Given the description of an element on the screen output the (x, y) to click on. 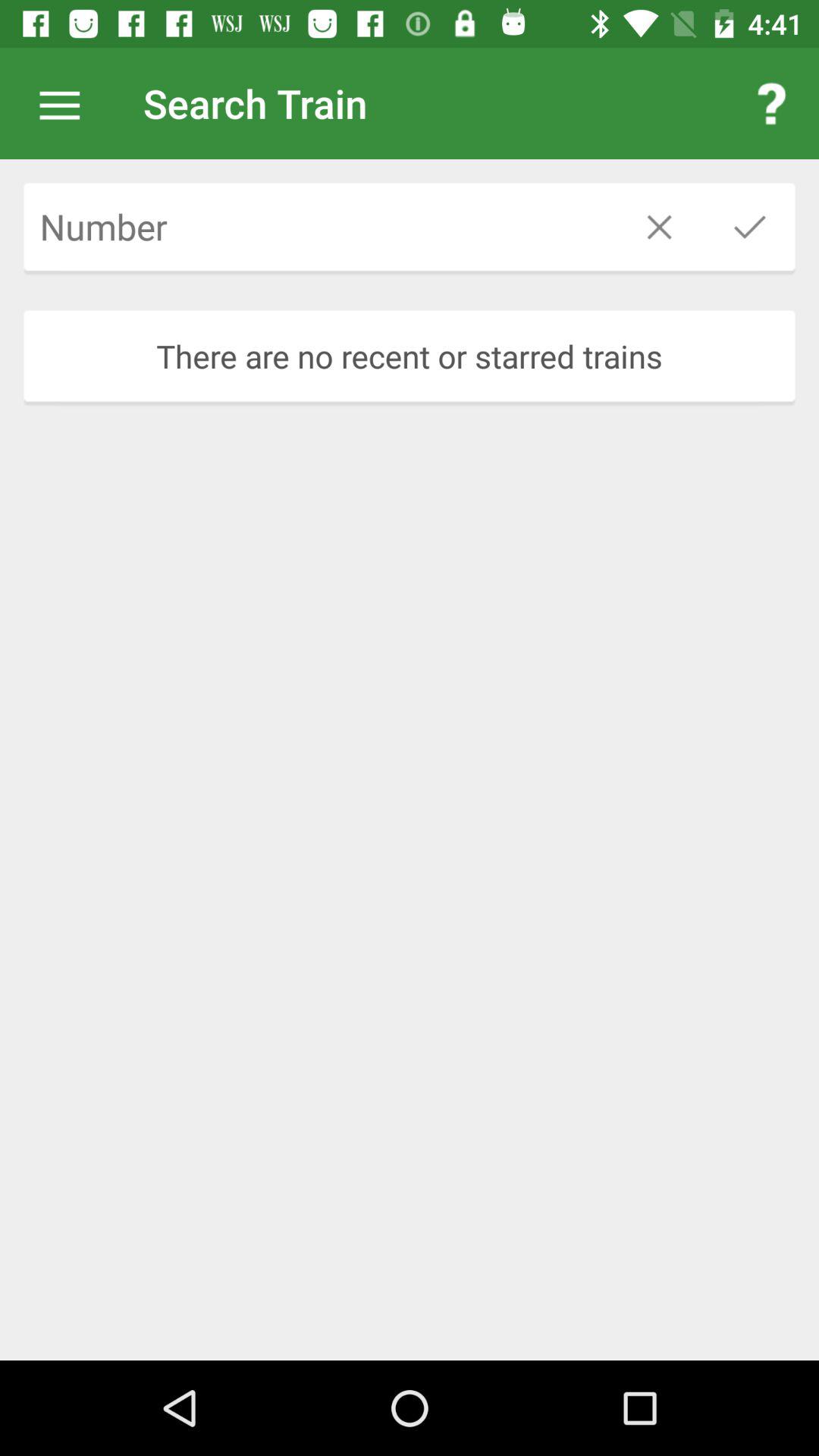
select the app to the right of the search train item (771, 103)
